Given the description of an element on the screen output the (x, y) to click on. 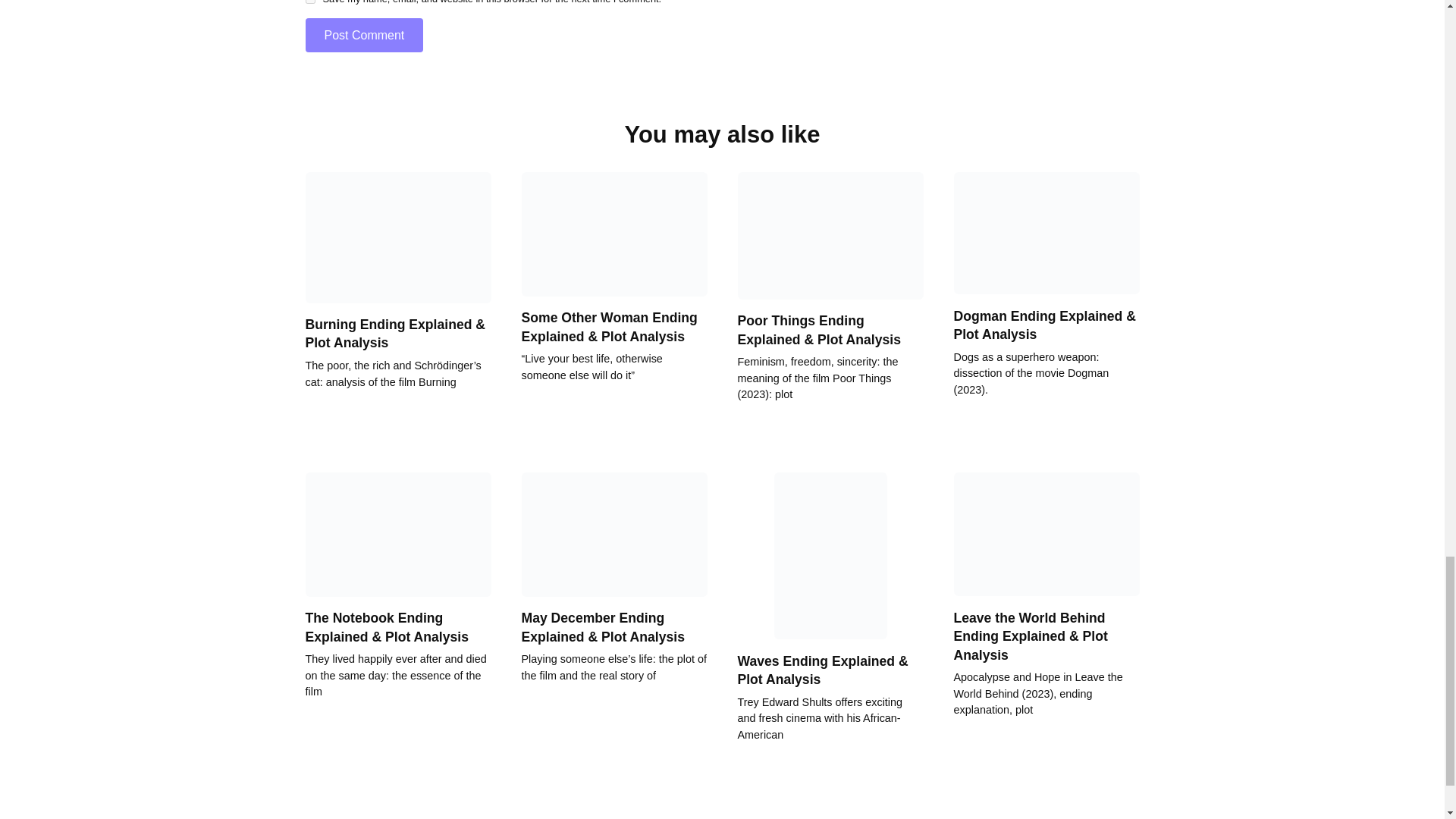
Post Comment (363, 35)
yes (309, 2)
Post Comment (363, 35)
